Given the description of an element on the screen output the (x, y) to click on. 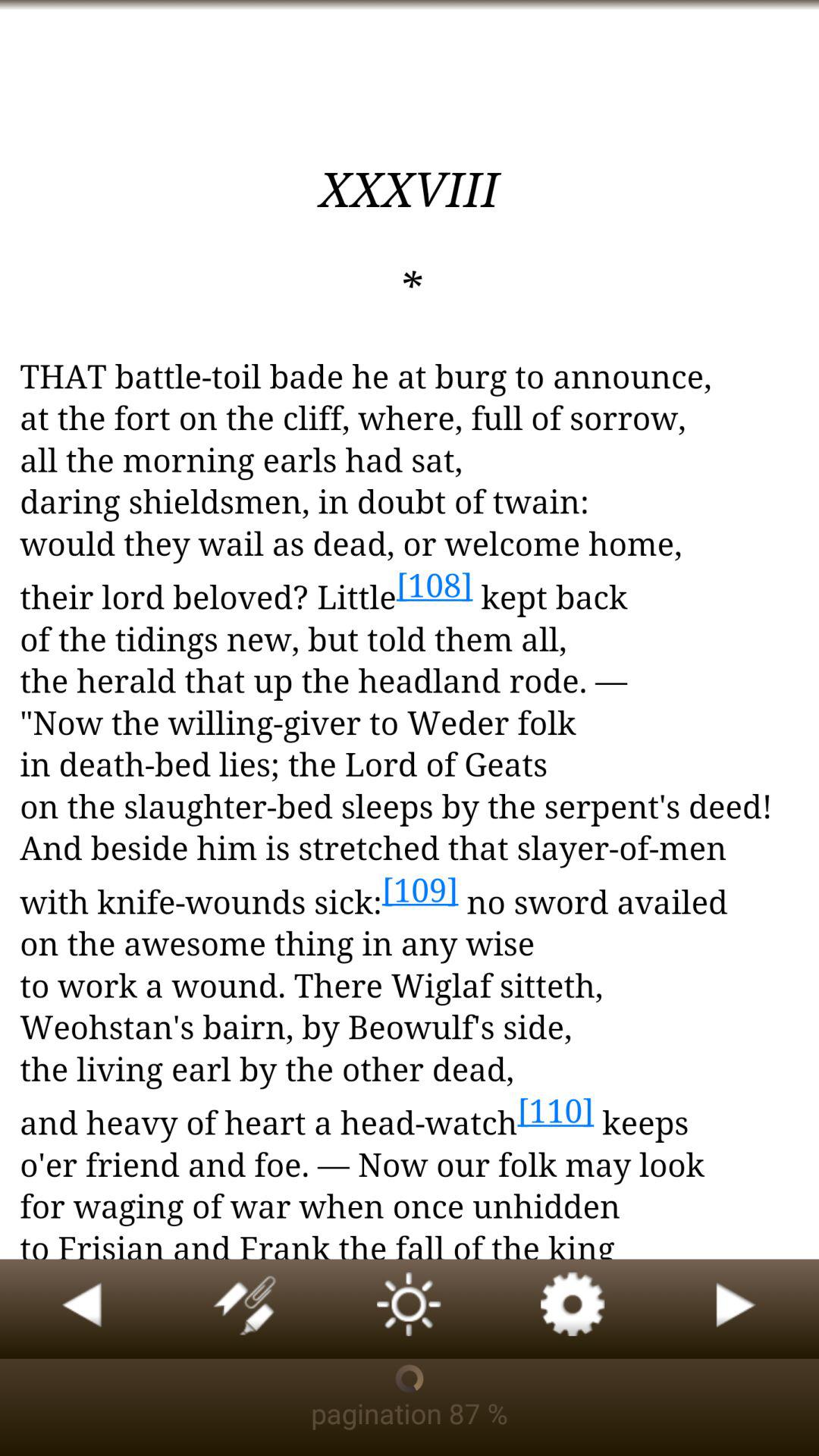
next option (737, 1308)
